Given the description of an element on the screen output the (x, y) to click on. 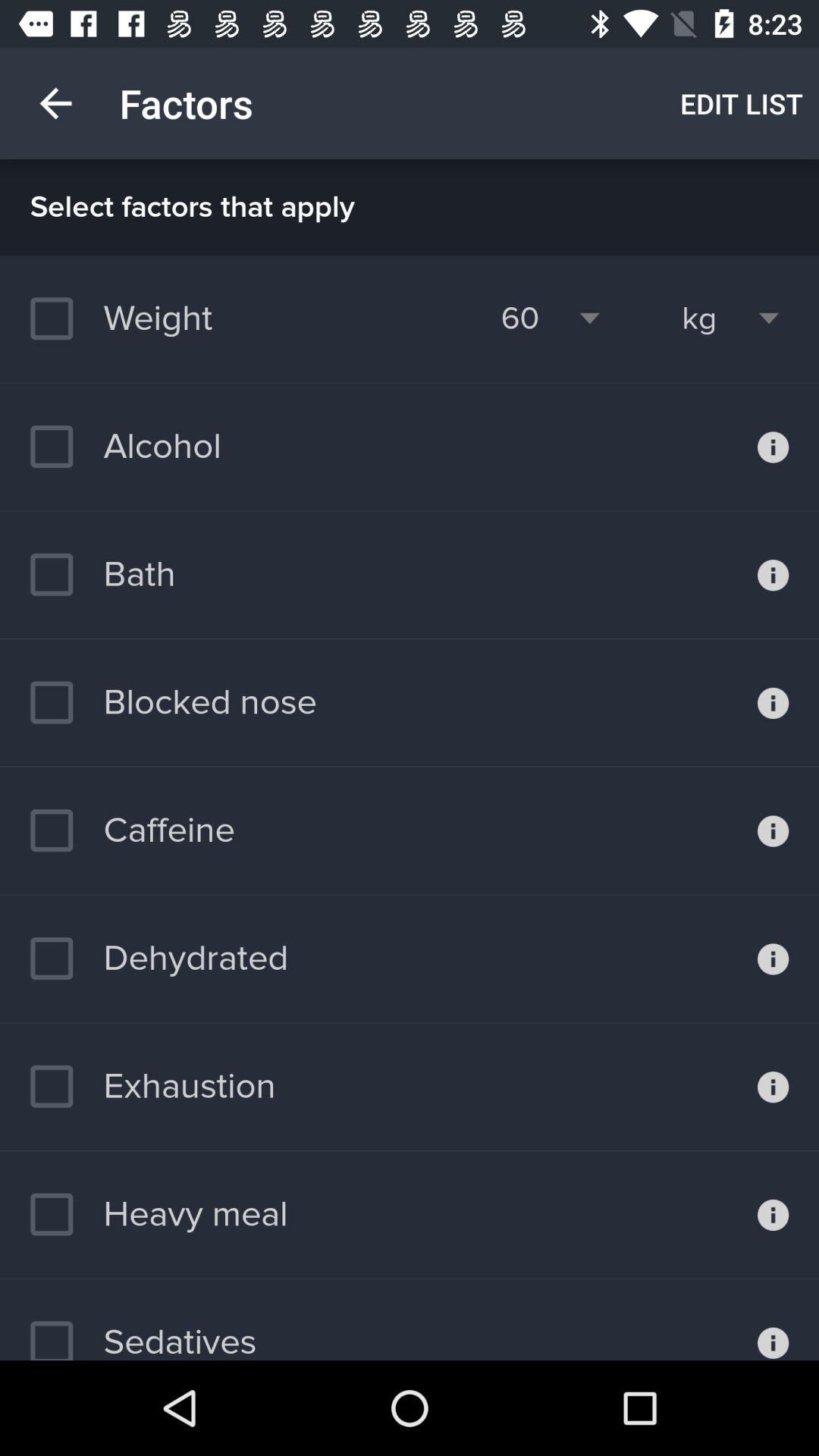
open info on alcohol (773, 446)
